Given the description of an element on the screen output the (x, y) to click on. 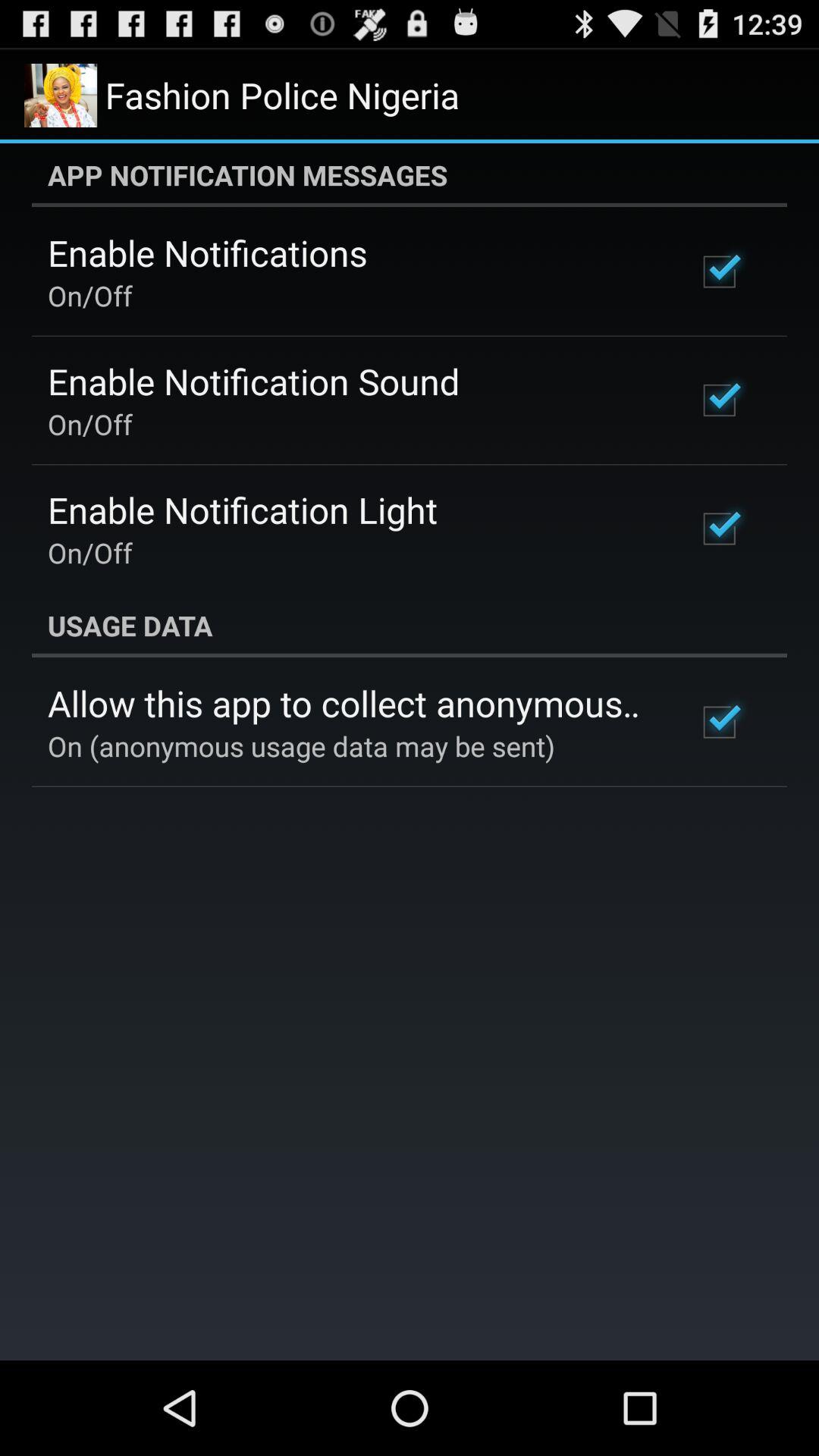
turn off allow this app app (351, 703)
